Given the description of an element on the screen output the (x, y) to click on. 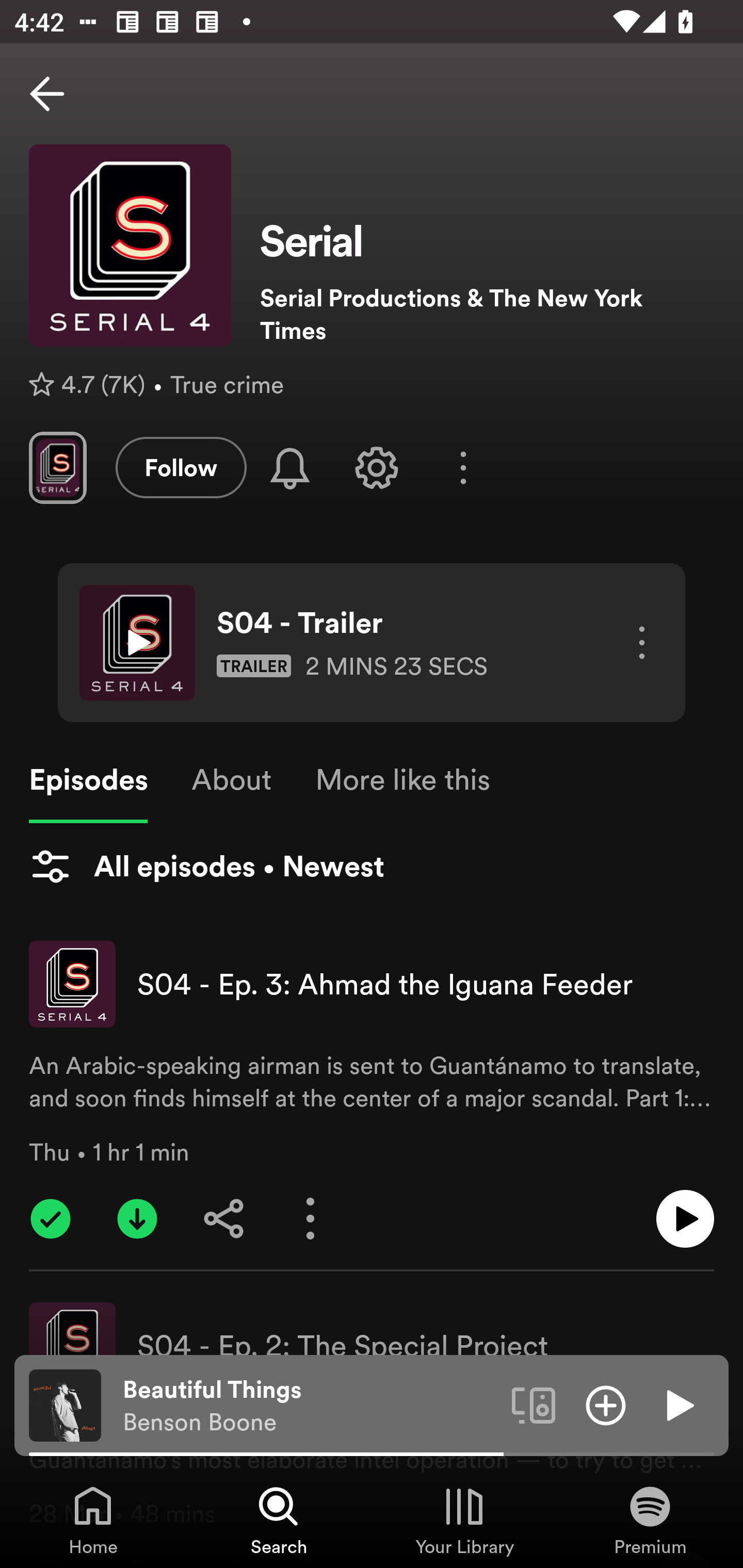
Back (46, 93)
Serial Productions & The New York Times (487, 314)
Follow Follow this show (180, 466)
Settings for this Show. (376, 467)
Enable notifications for new episodes of Serial. (289, 467)
More options for show Serial (462, 467)
More options for episode S04 - Trailer (634, 642)
About (231, 779)
More like this (402, 779)
All episodes • Newest (206, 866)
Share (223, 1219)
Play episode: S04 - Ep. 3: Ahmad the Iguana Feeder (684, 1219)
Beautiful Things Benson Boone (309, 1405)
The cover art of the currently playing track (64, 1404)
Connect to a device. Opens the devices menu (533, 1404)
Add item (605, 1404)
Play (677, 1404)
Home, Tab 1 of 4 Home Home (92, 1519)
Search, Tab 2 of 4 Search Search (278, 1519)
Your Library, Tab 3 of 4 Your Library Your Library (464, 1519)
Premium, Tab 4 of 4 Premium Premium (650, 1519)
